Given the description of an element on the screen output the (x, y) to click on. 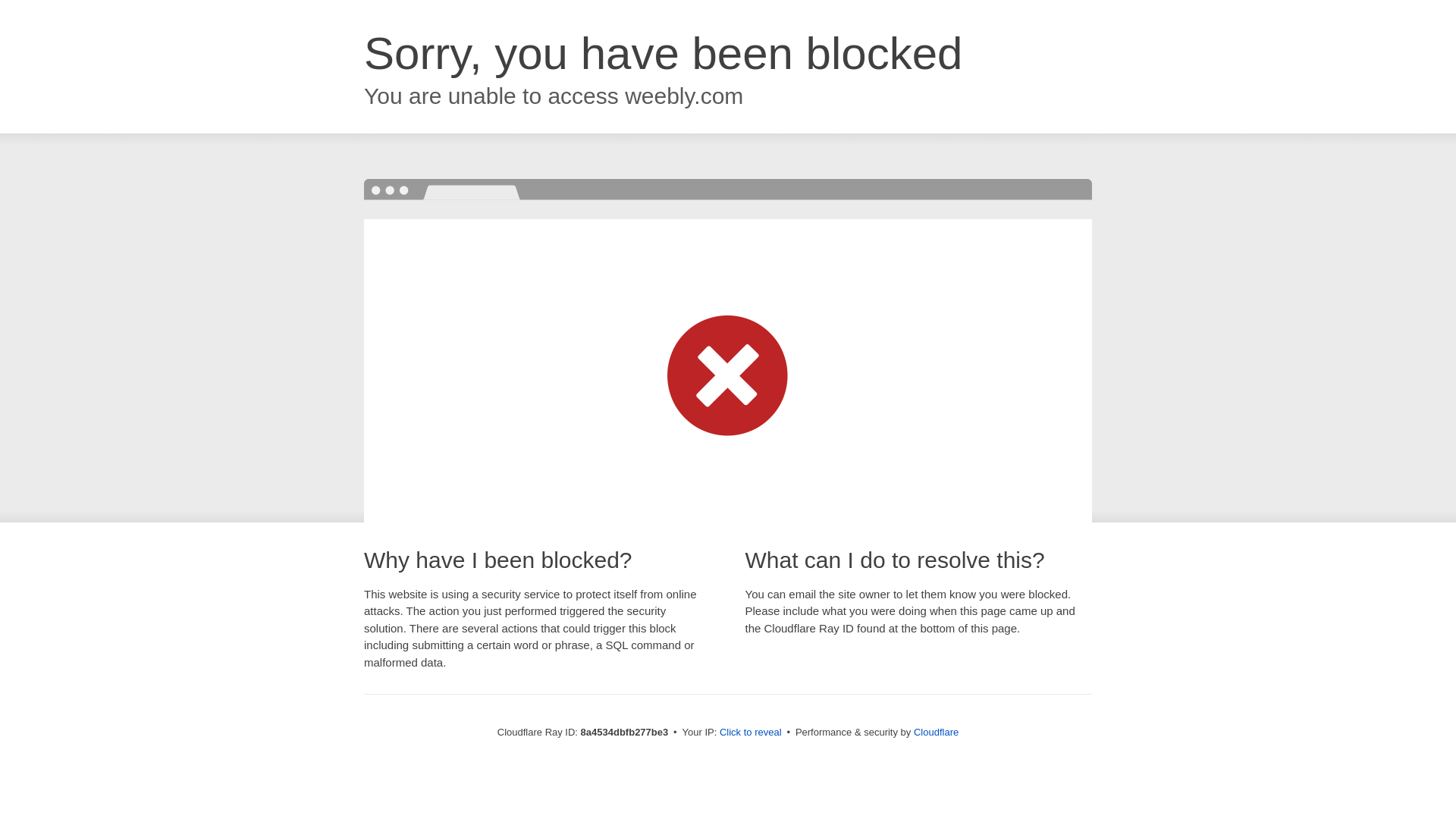
Click to reveal (750, 732)
Cloudflare (936, 731)
